Given the description of an element on the screen output the (x, y) to click on. 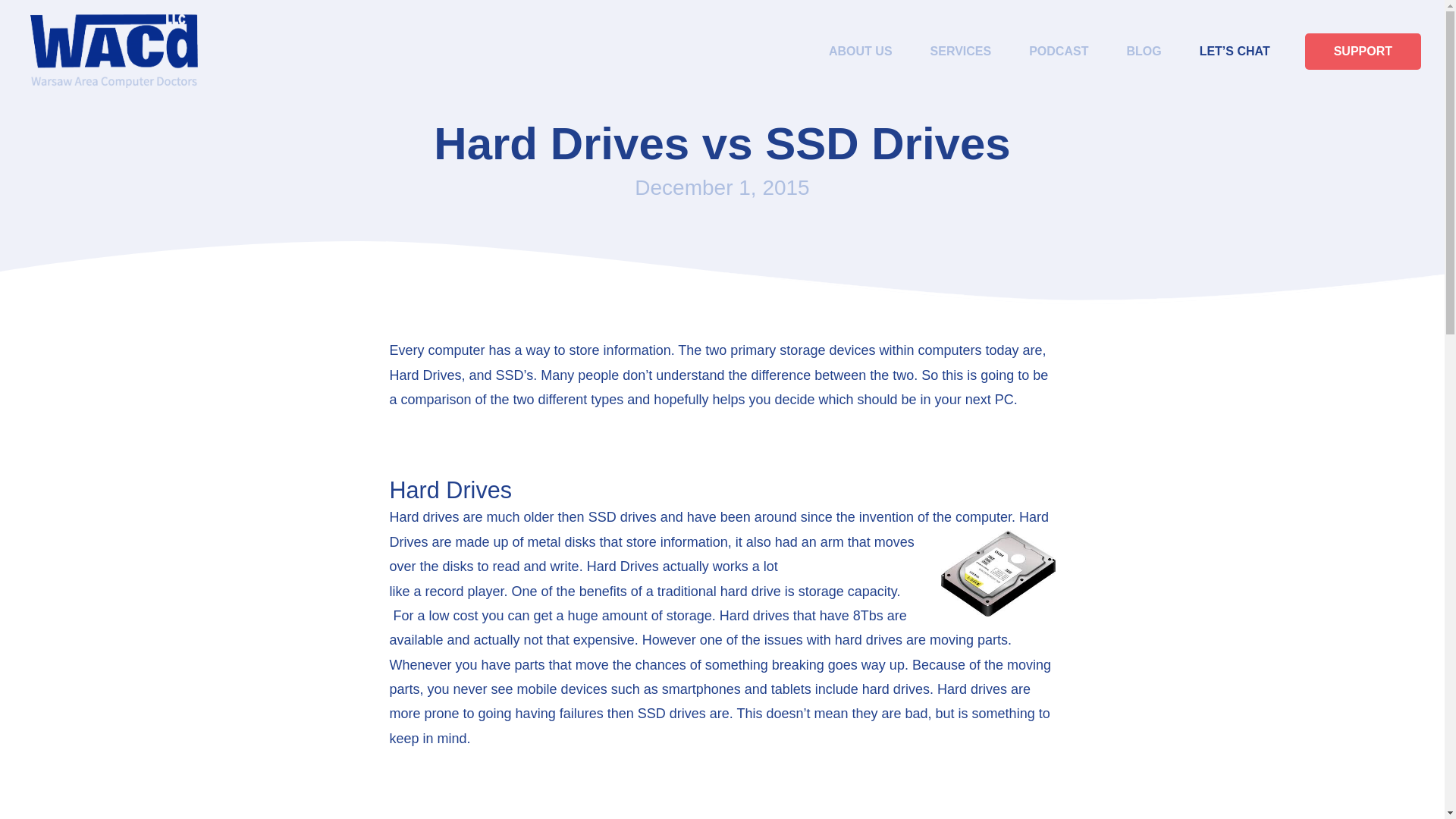
SERVICES (960, 51)
ABOUT US (860, 51)
SUPPORT (1362, 51)
PODCAST (1059, 51)
BLOG (1143, 51)
